Given the description of an element on the screen output the (x, y) to click on. 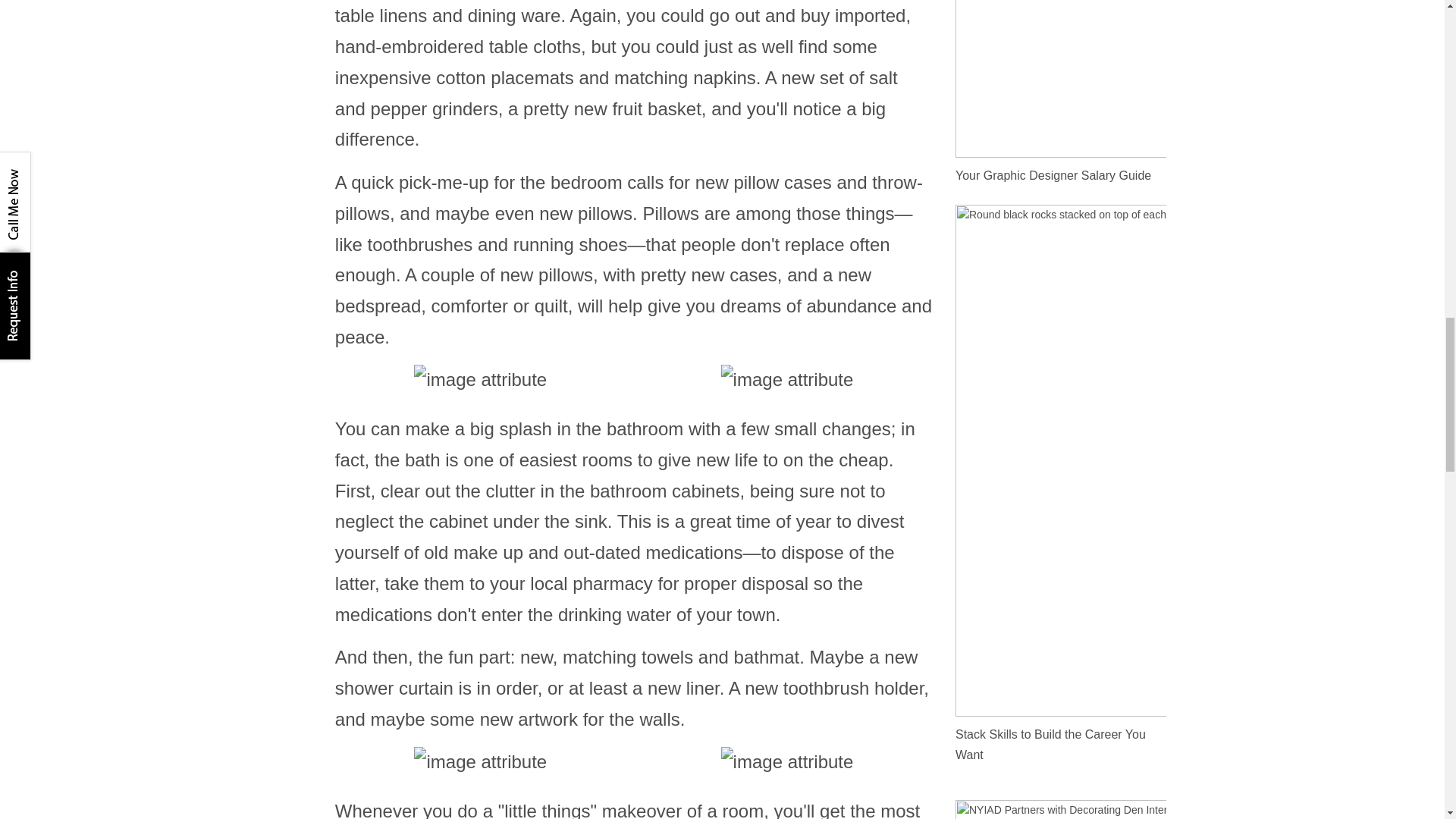
Your Graphic Designer Salary Guide  (1053, 174)
Round black rocks stacked on top of each other. (1060, 459)
Your Graphic Designer Salary Guide  (1060, 79)
Stack Skills to Build the Career You Want (1050, 744)
